Given the description of an element on the screen output the (x, y) to click on. 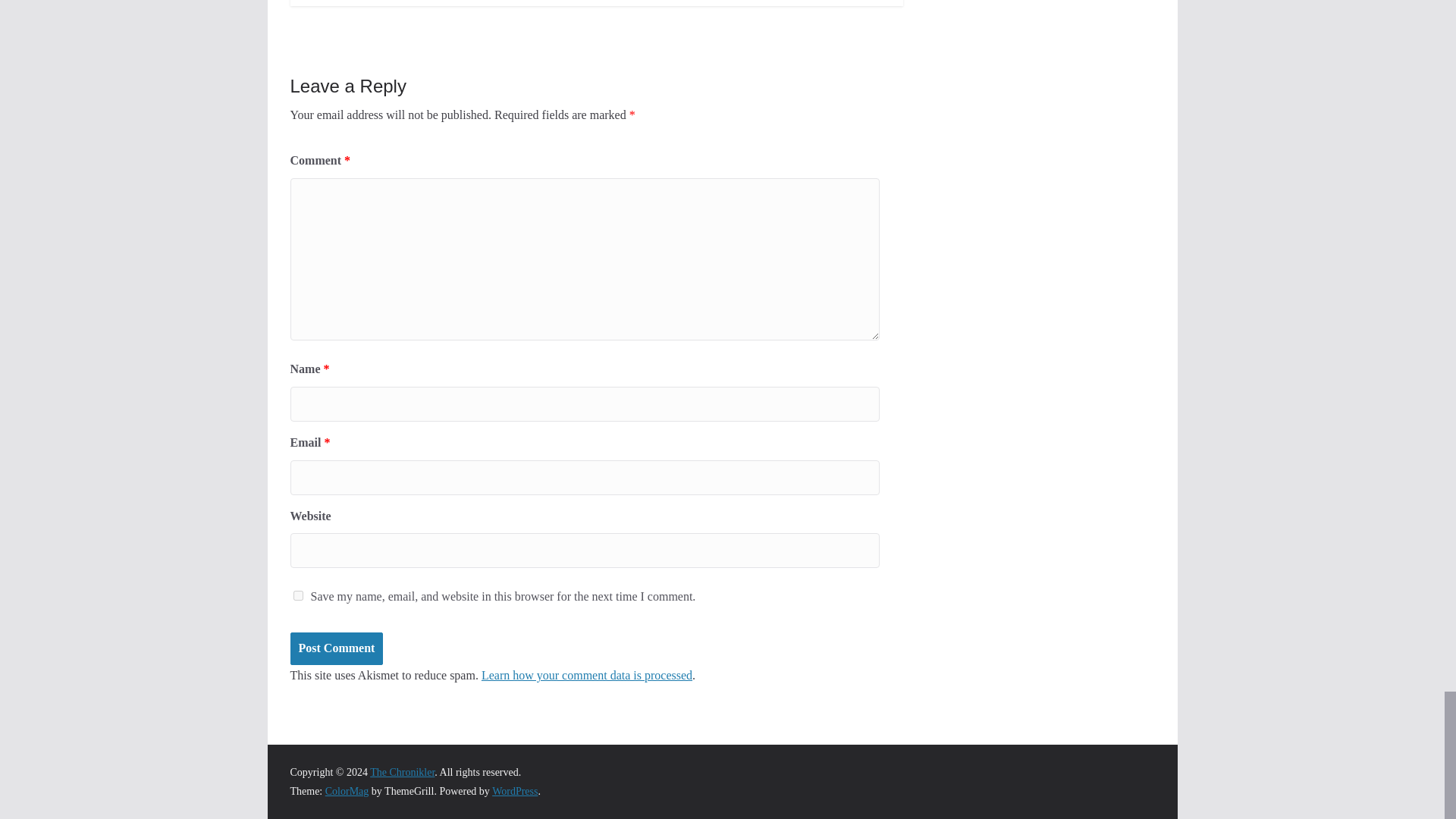
Post Comment (335, 648)
yes (297, 595)
